Given the description of an element on the screen output the (x, y) to click on. 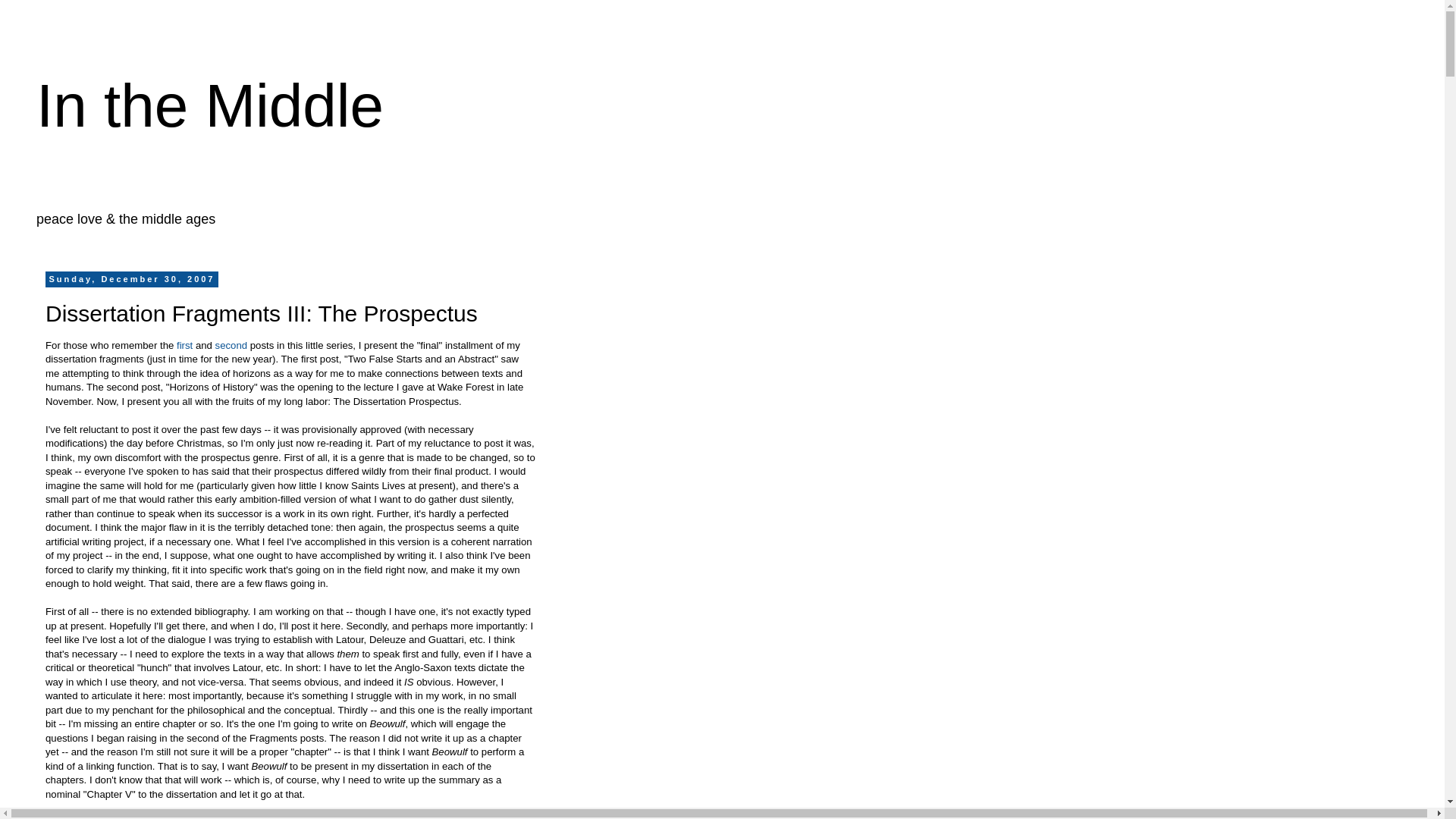
first (184, 345)
In the Middle (210, 105)
second (232, 345)
